Given the description of an element on the screen output the (x, y) to click on. 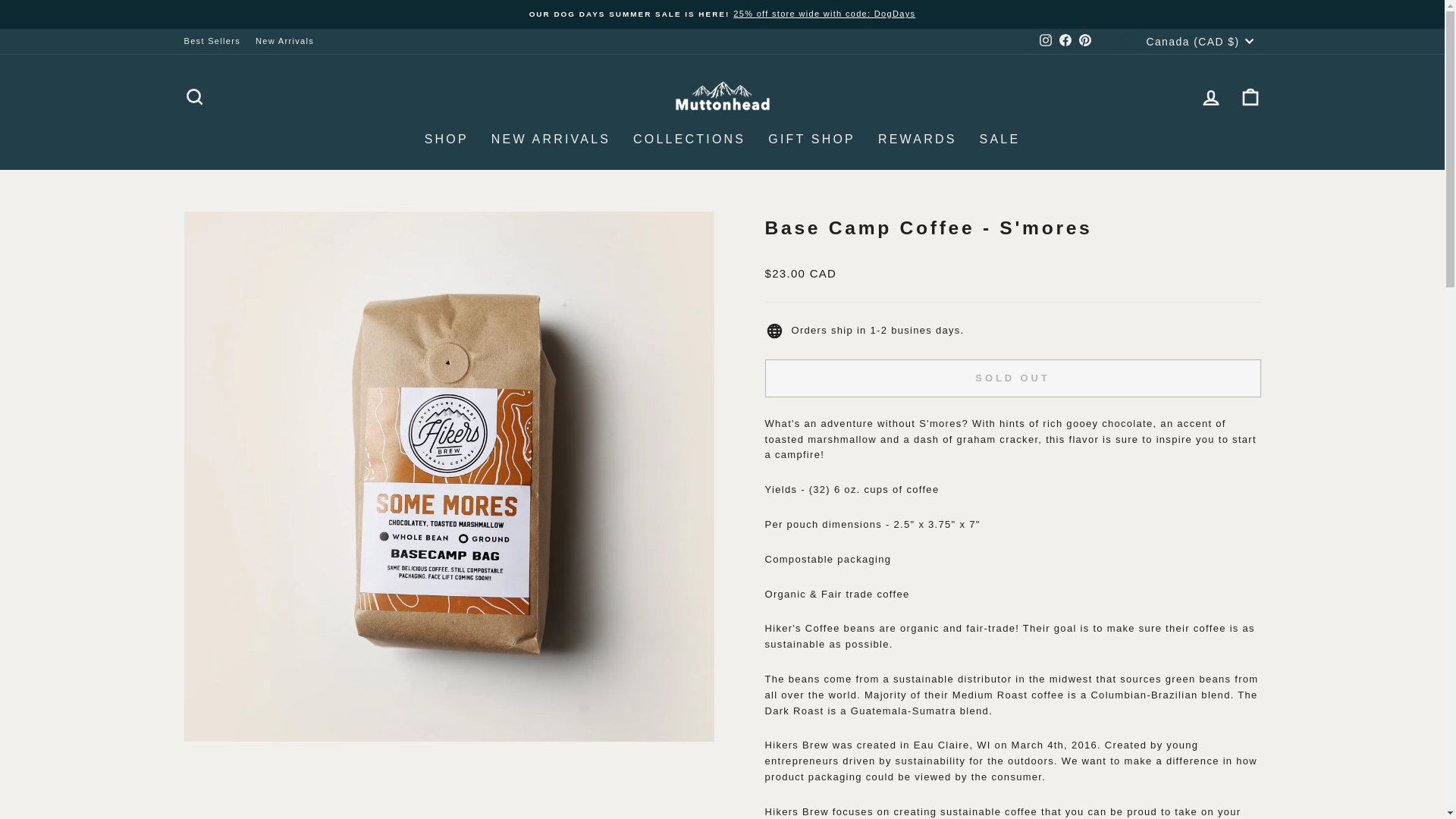
MUTTONHEAD on Instagram (1045, 41)
MUTTONHEAD on Facebook (1065, 41)
MUTTONHEAD on Pinterest (1084, 41)
